Given the description of an element on the screen output the (x, y) to click on. 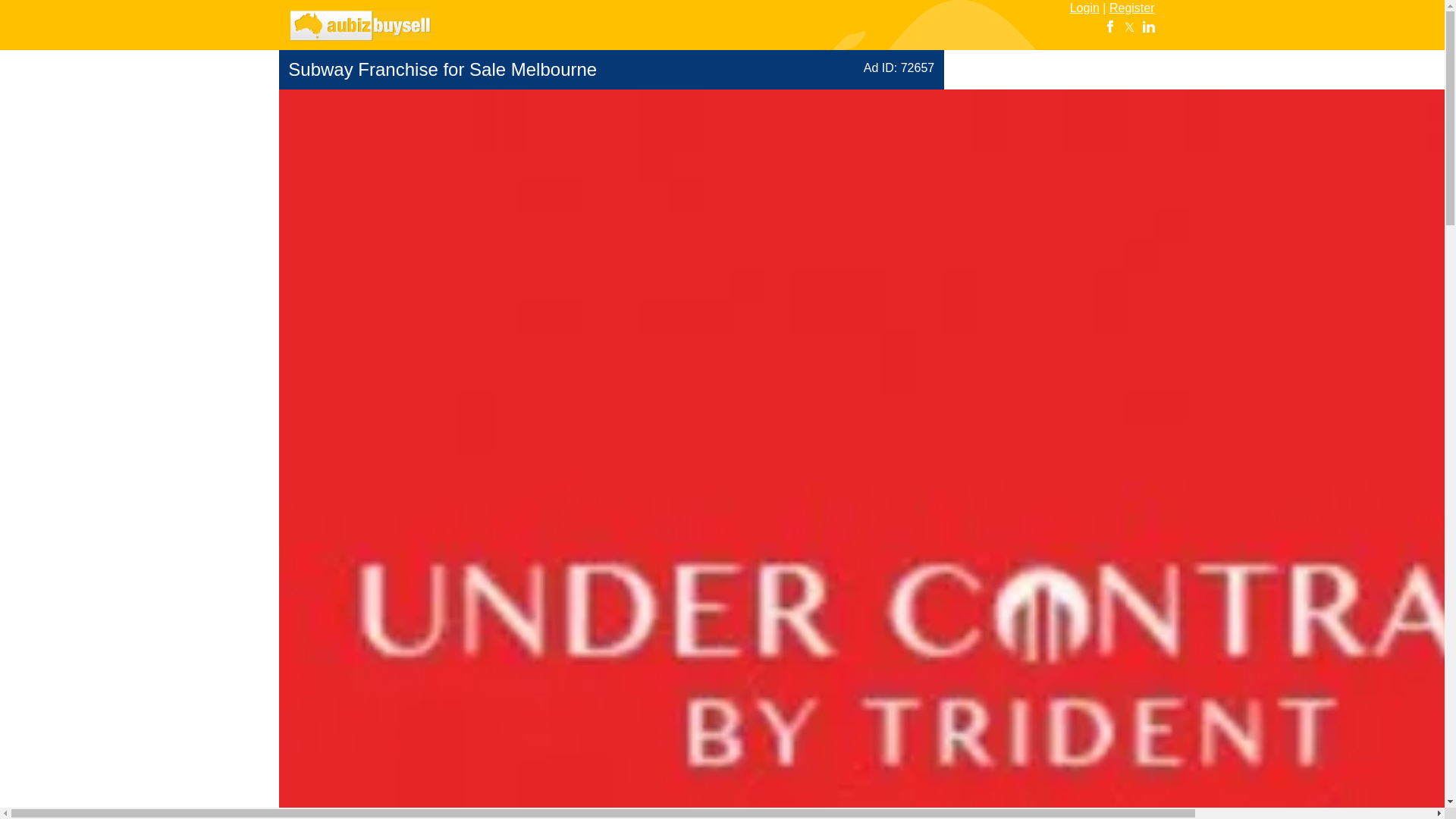
Follow us on Facebook (1109, 26)
Follow us on LinkedIn (1147, 26)
Follow us on Twitter (1128, 26)
Login (1084, 7)
Register (1131, 7)
